Given the description of an element on the screen output the (x, y) to click on. 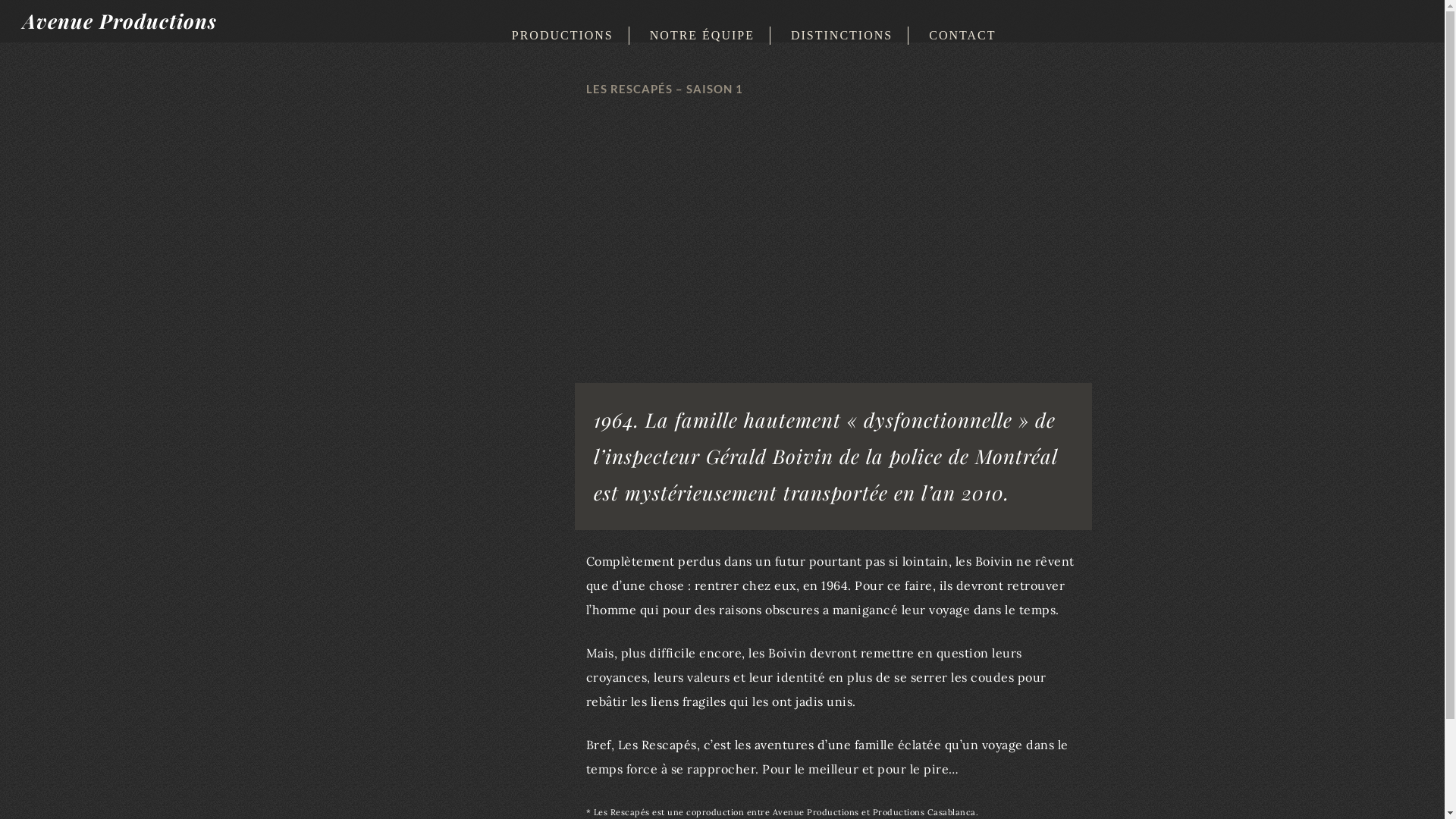
CONTACT Element type: text (959, 34)
PRODUCTIONS Element type: text (559, 34)
Avenue Productions Element type: text (119, 20)
DISTINCTIONS Element type: text (838, 34)
LesRescapes1-Promo Element type: hover (832, 243)
